Given the description of an element on the screen output the (x, y) to click on. 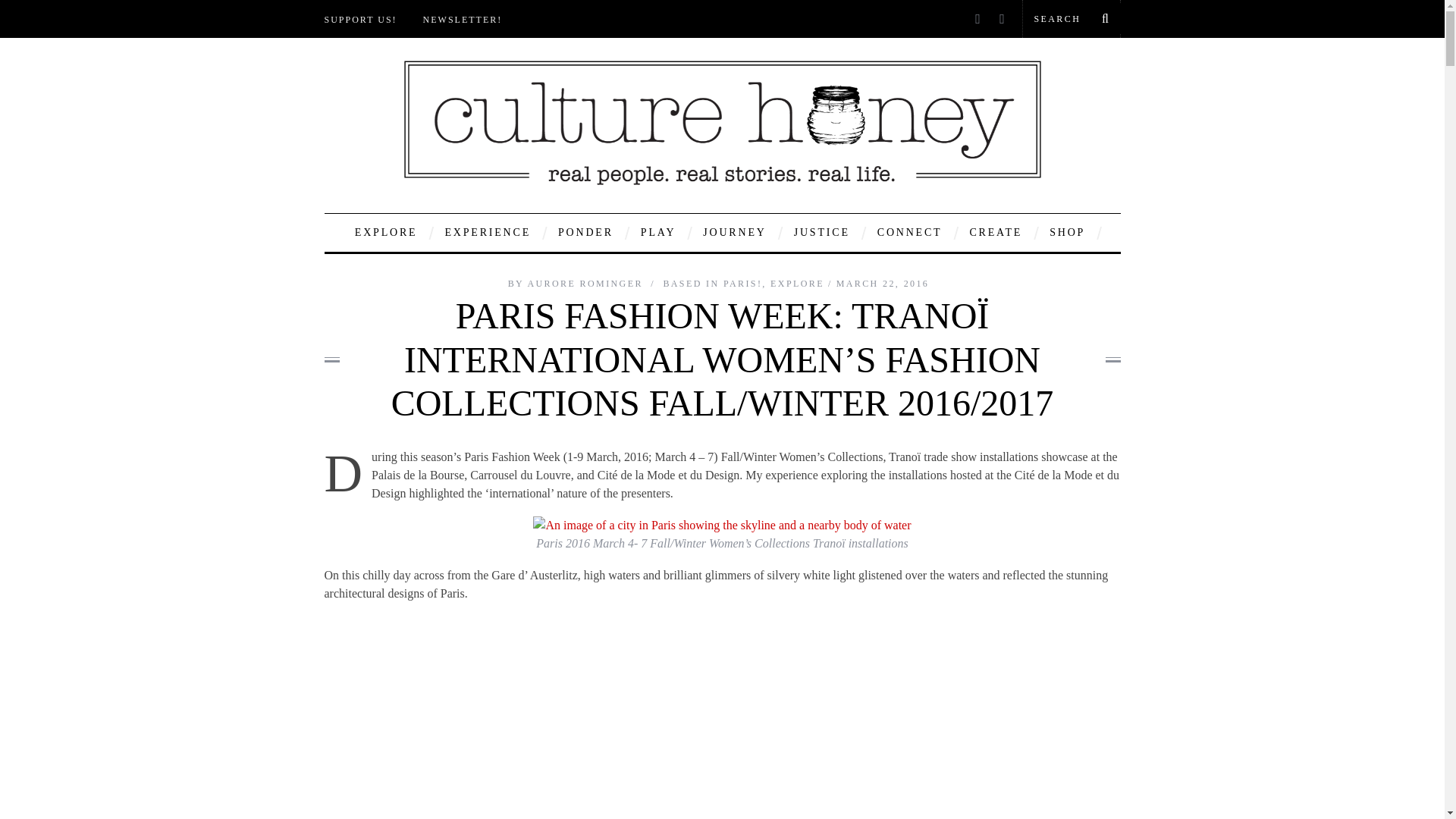
PONDER (585, 232)
NEWSLETTER! (462, 24)
SUPPORT US! (360, 24)
Search (1071, 18)
EXPERIENCE (486, 232)
EXPLORE (386, 232)
